Given the description of an element on the screen output the (x, y) to click on. 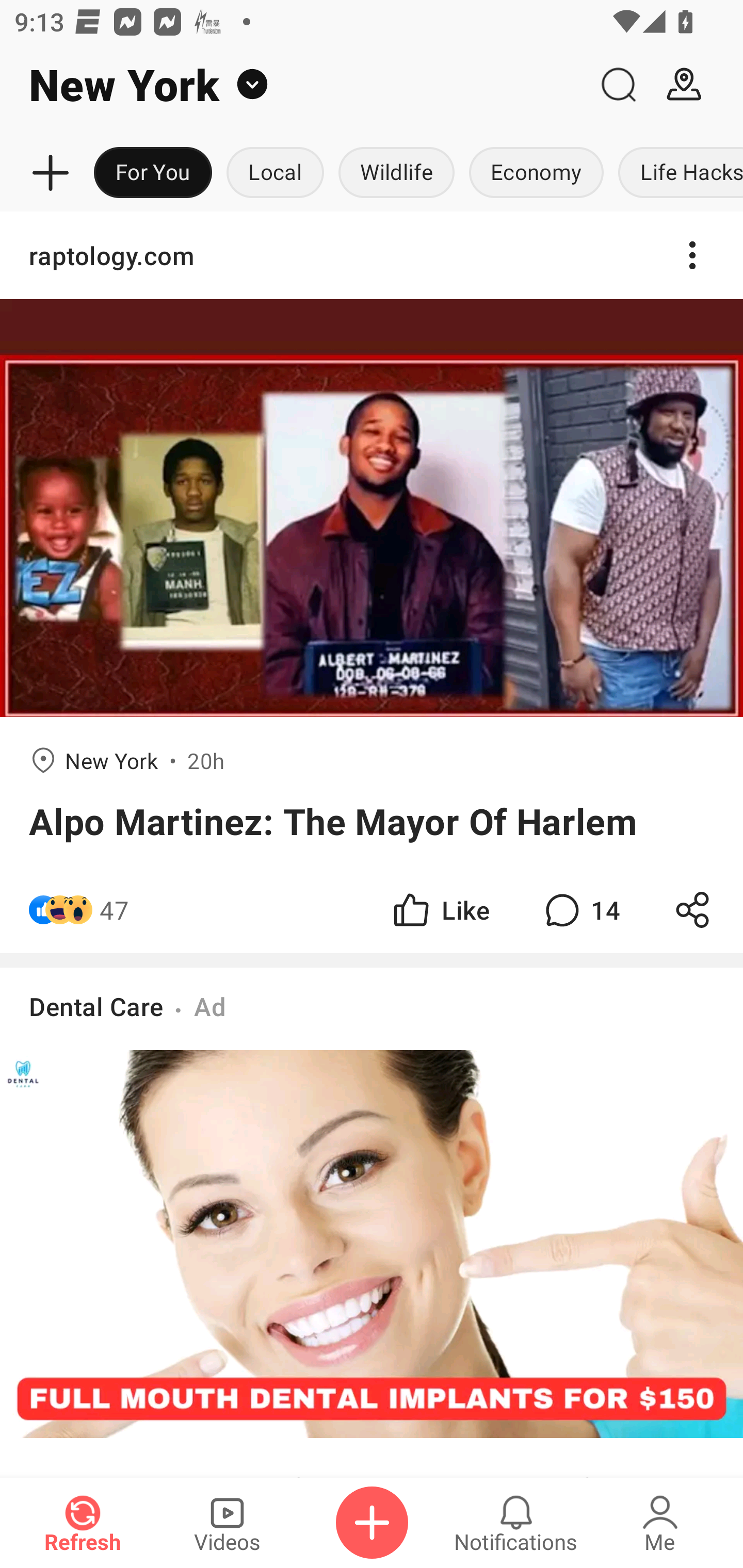
New York (292, 84)
For You (152, 172)
Local (275, 172)
Wildlife (396, 172)
Economy (536, 172)
Life Hacks (676, 172)
raptology.com (371, 255)
47 (114, 910)
Like (439, 910)
14 (579, 910)
Dental Care (95, 1006)
Videos (227, 1522)
Notifications (516, 1522)
Me (659, 1522)
